Given the description of an element on the screen output the (x, y) to click on. 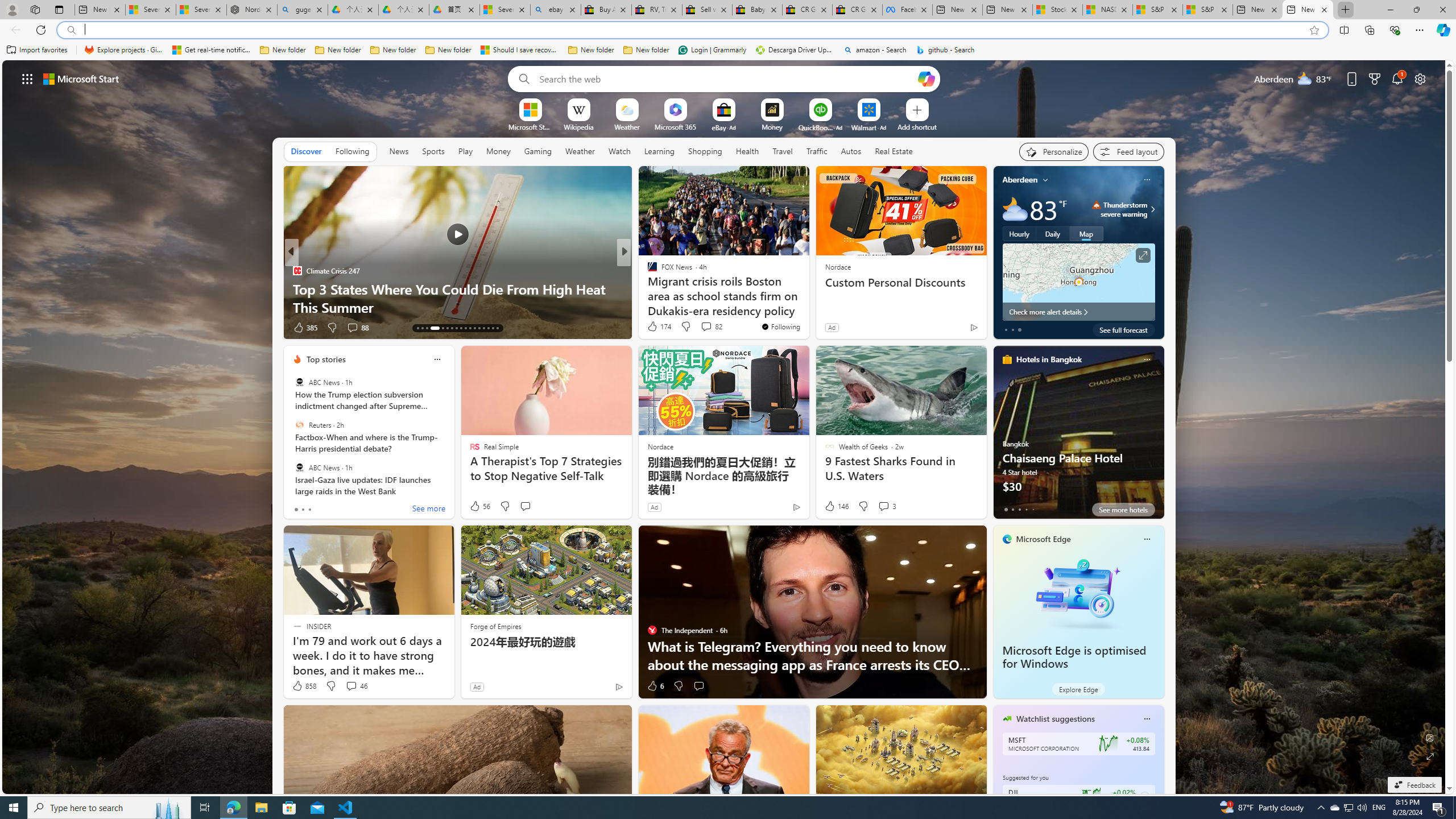
Mostly cloudy (1014, 208)
Autos (850, 151)
Hotels in Bangkok (1048, 359)
Favorites bar (728, 49)
View comments 4 Comment (705, 327)
AutomationID: tab-19 (451, 328)
AutomationID: tab-13 (417, 328)
Edit Background (1430, 737)
View comments 2 Comment (698, 327)
Don't trust AI for these 4 things (807, 307)
15 Like (652, 327)
Thunderstorm - Severe Thunderstorm severe warning (1119, 208)
